Given the description of an element on the screen output the (x, y) to click on. 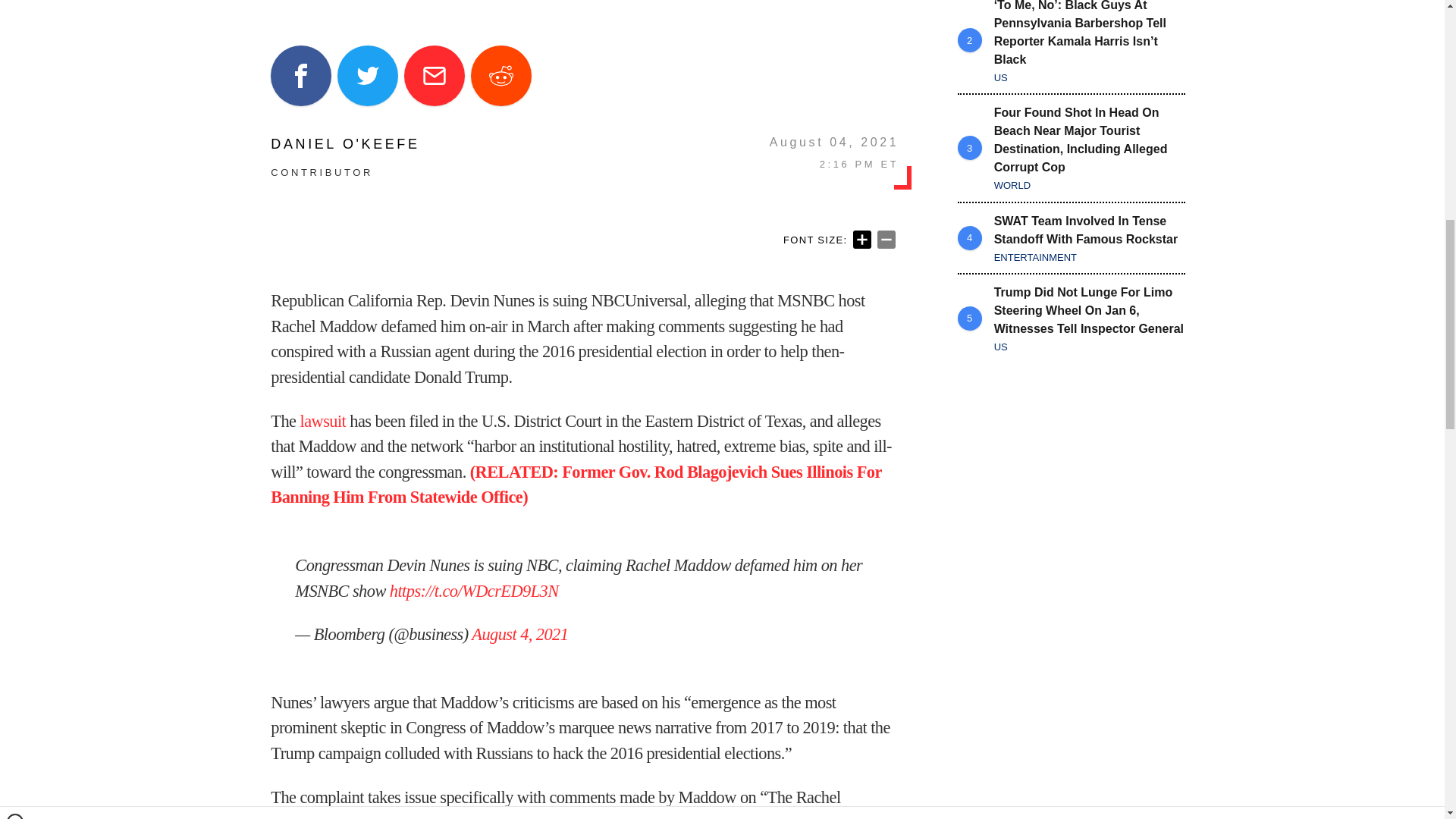
lawsuit (322, 420)
Close window (14, 6)
View More Articles By Daniel O'Keefe (344, 144)
DANIEL O'KEEFE (344, 144)
